Given the description of an element on the screen output the (x, y) to click on. 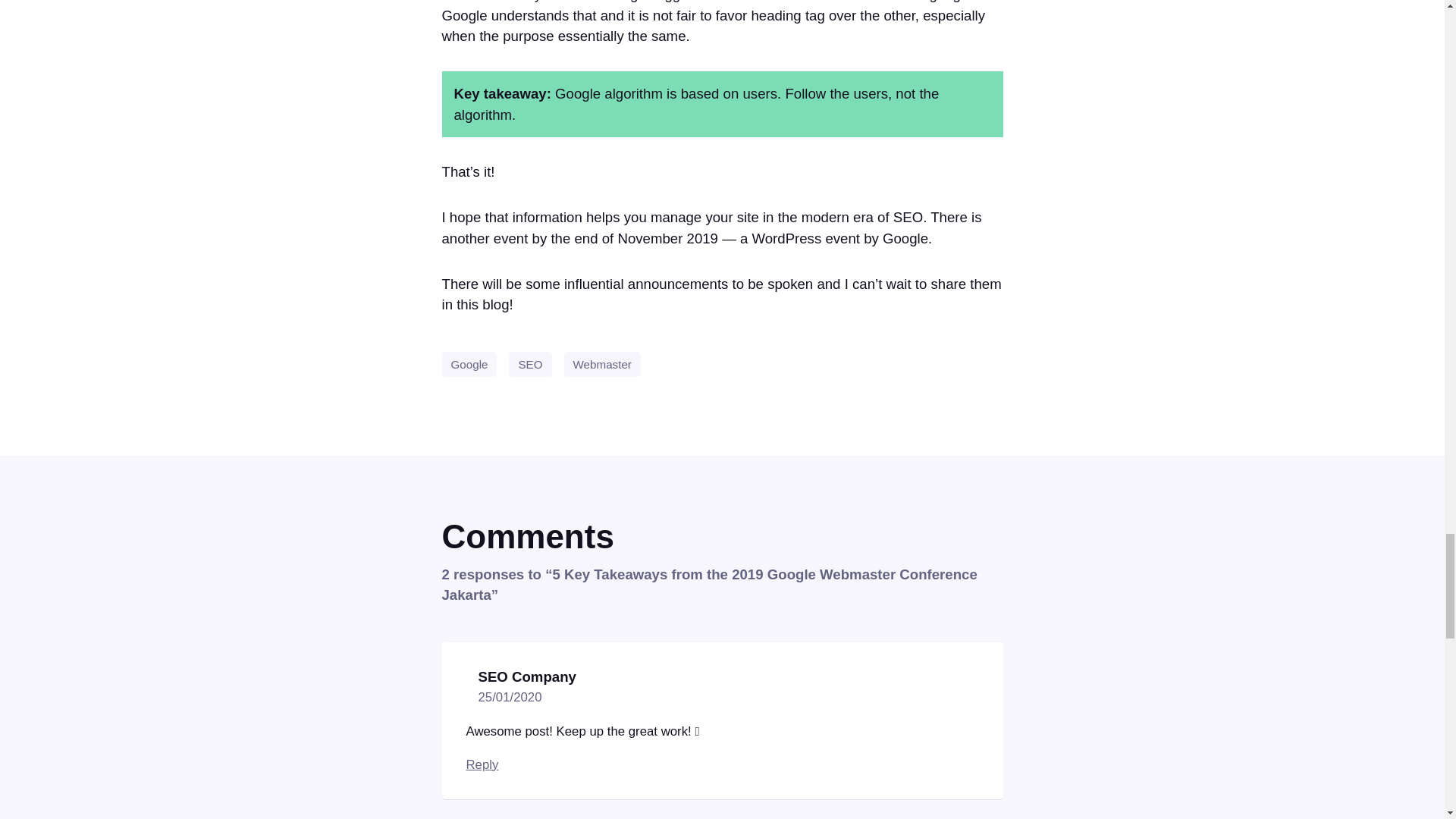
Webmaster (602, 364)
SEO Company (526, 676)
Reply (481, 764)
SEO (529, 364)
Google (468, 364)
